Given the description of an element on the screen output the (x, y) to click on. 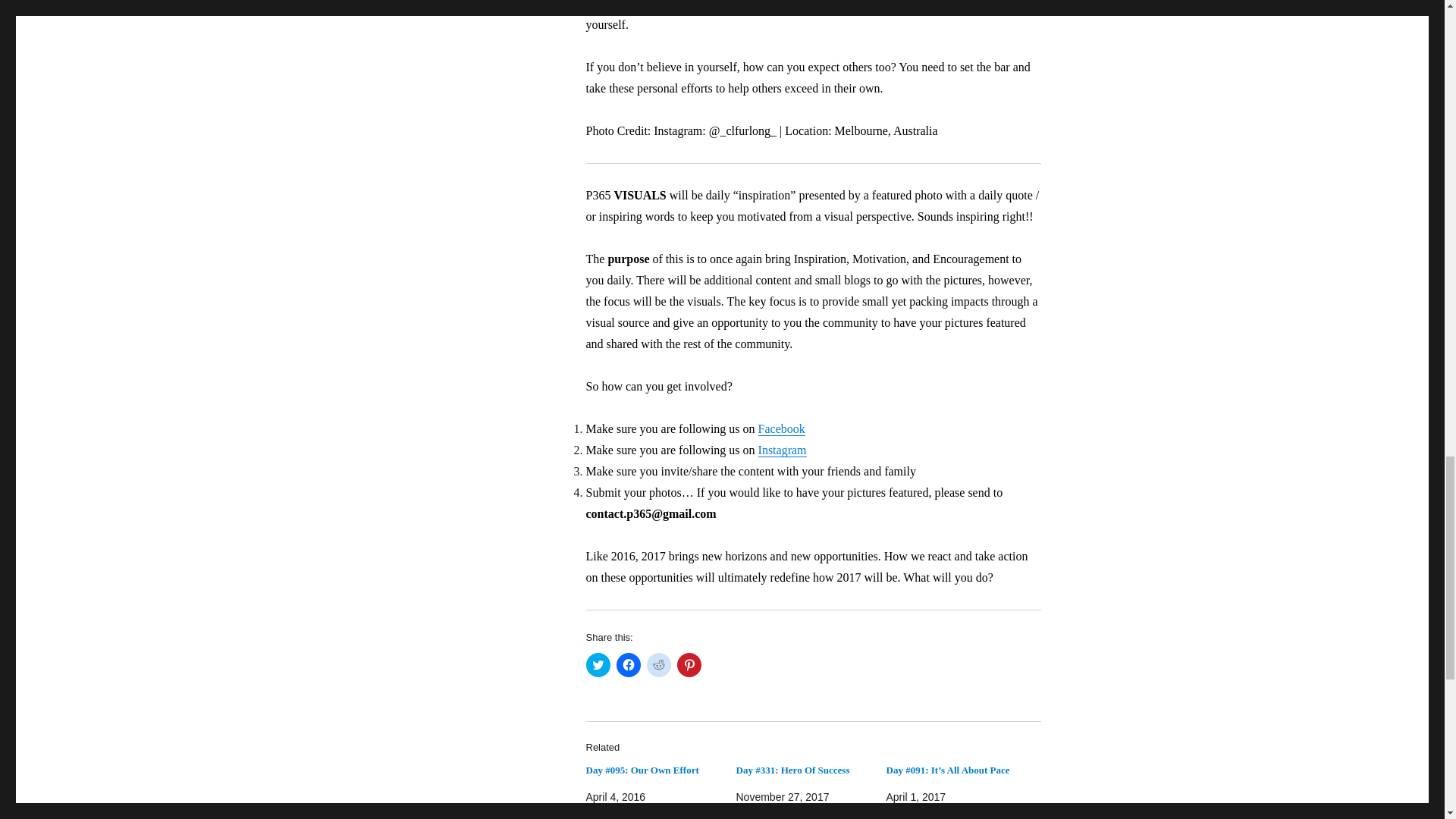
Instagram (782, 449)
Click to share on Reddit (657, 664)
Facebook (781, 428)
Click to share on Pinterest (688, 664)
Click to share on Twitter (597, 664)
Click to share on Facebook (627, 664)
